Given the description of an element on the screen output the (x, y) to click on. 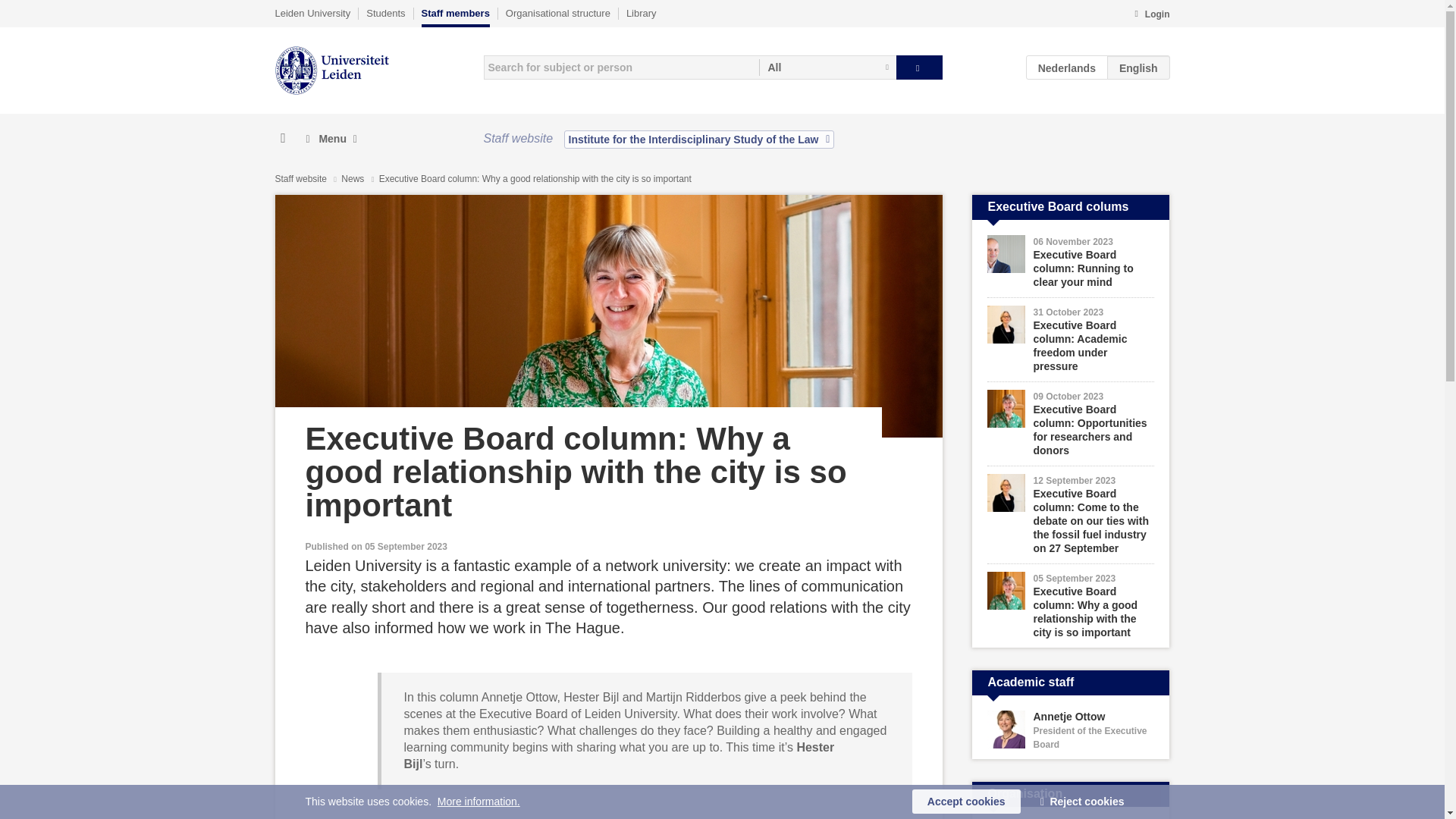
Login (1151, 14)
NL (1067, 67)
Library (641, 13)
Menu (330, 139)
Leiden University (312, 13)
All (827, 67)
Institute for the Interdisciplinary Study of the Law (699, 139)
Staff members (455, 17)
Students (385, 13)
Organisational structure (557, 13)
Search (919, 67)
